Given the description of an element on the screen output the (x, y) to click on. 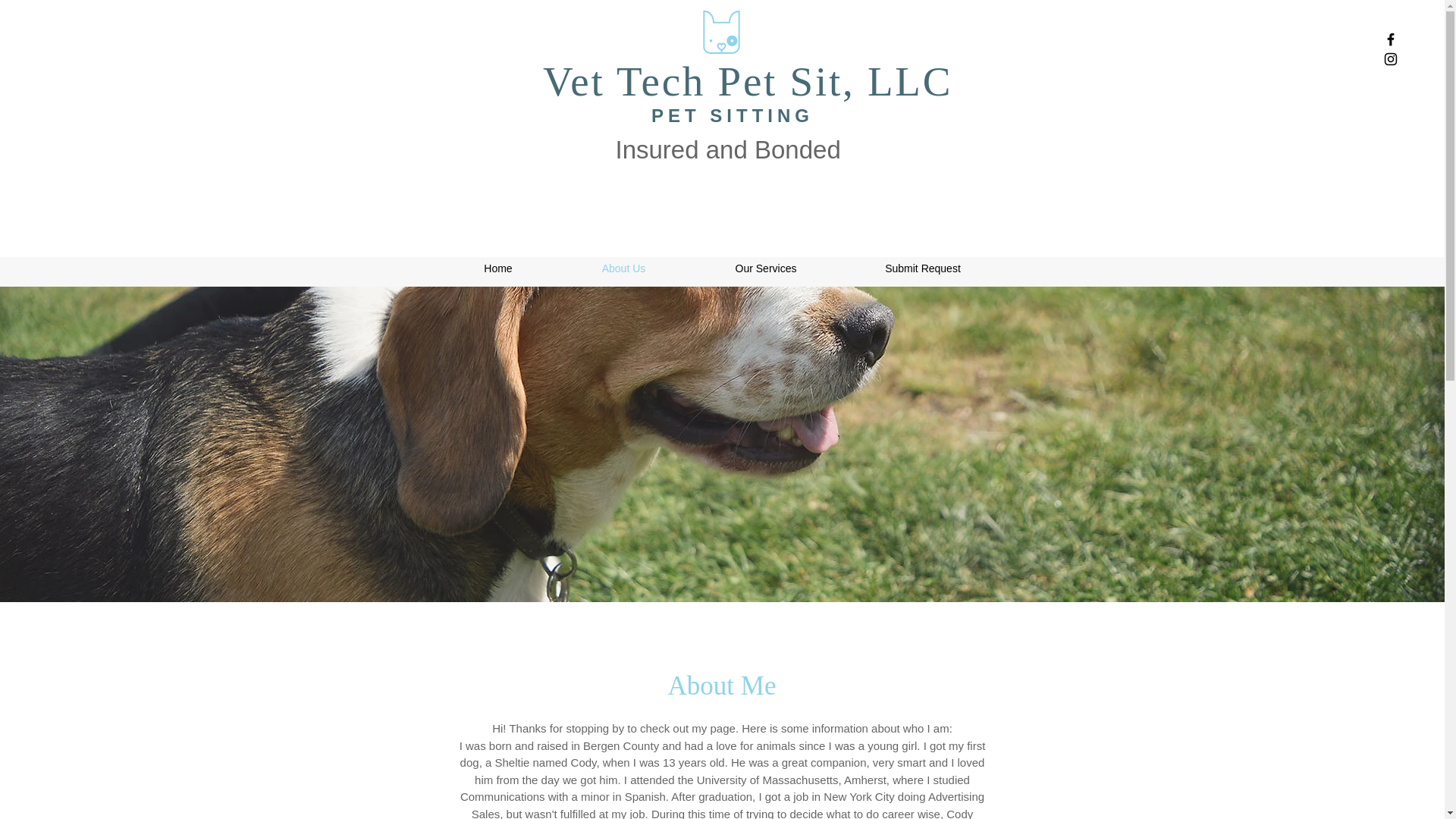
Home (498, 268)
Submit Request (922, 268)
PET SITTING (731, 115)
Our Services (765, 268)
Vet Tech Pet Sit, LLC (747, 81)
About Us (623, 268)
